Given the description of an element on the screen output the (x, y) to click on. 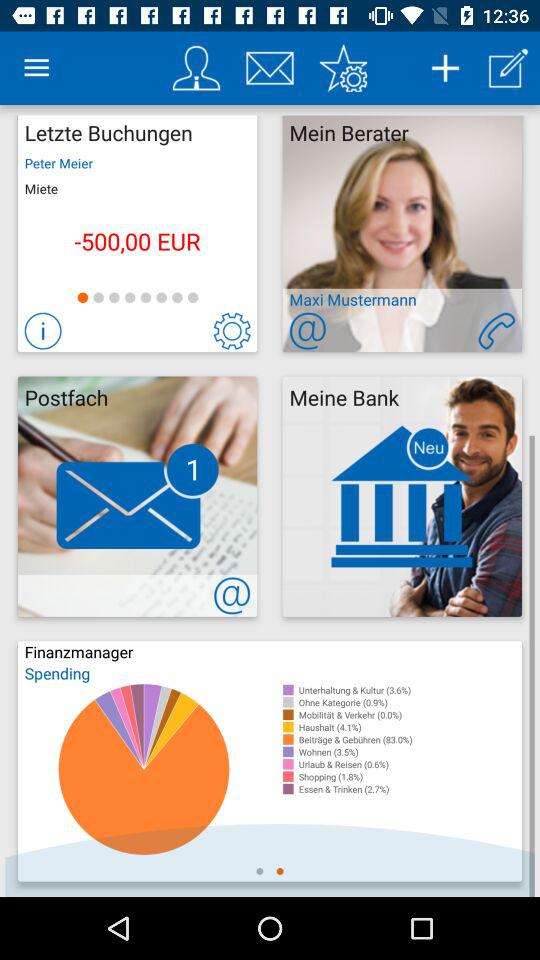
open phone info (496, 330)
